Given the description of an element on the screen output the (x, y) to click on. 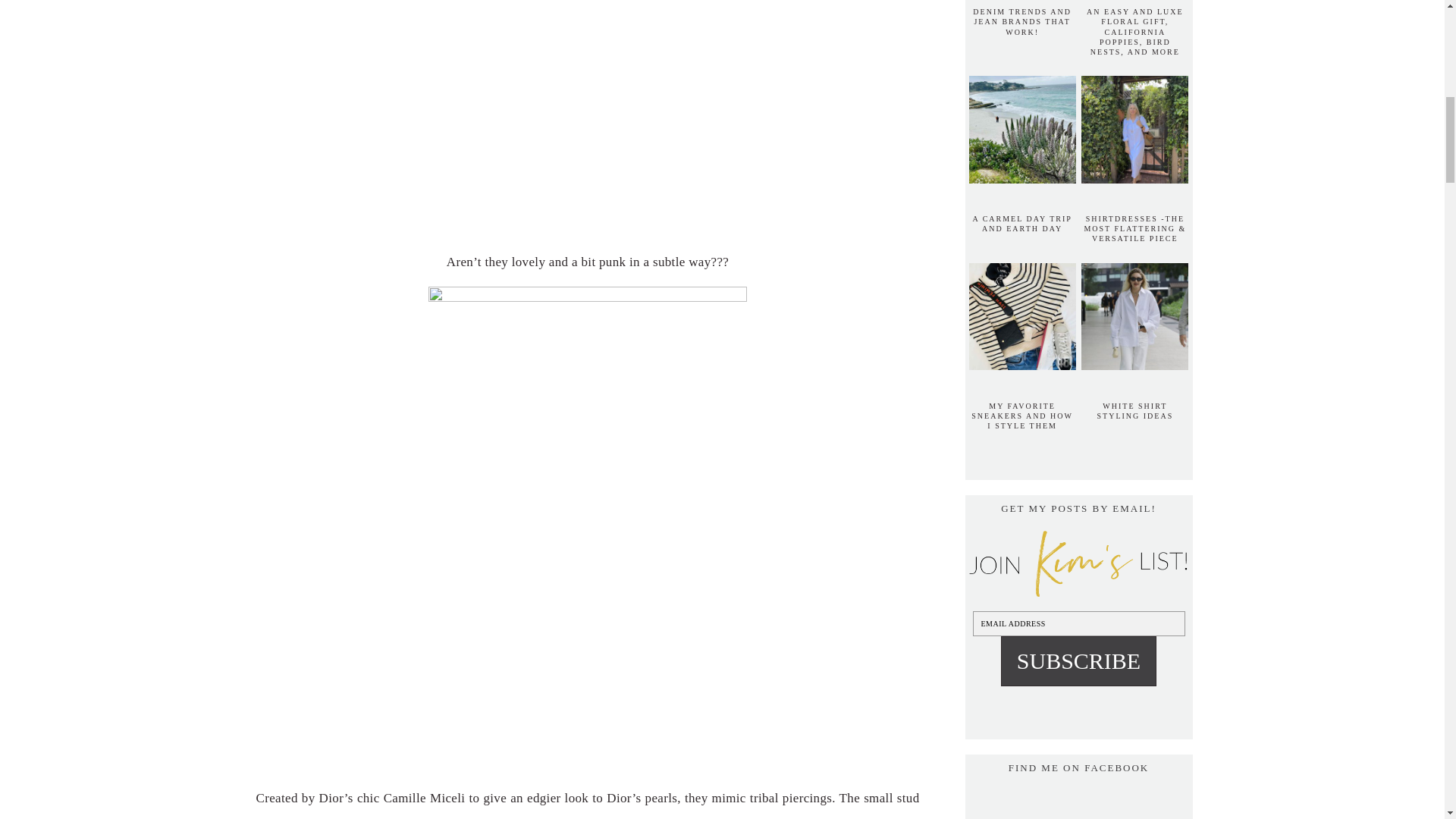
Subscribe (1078, 661)
